Given the description of an element on the screen output the (x, y) to click on. 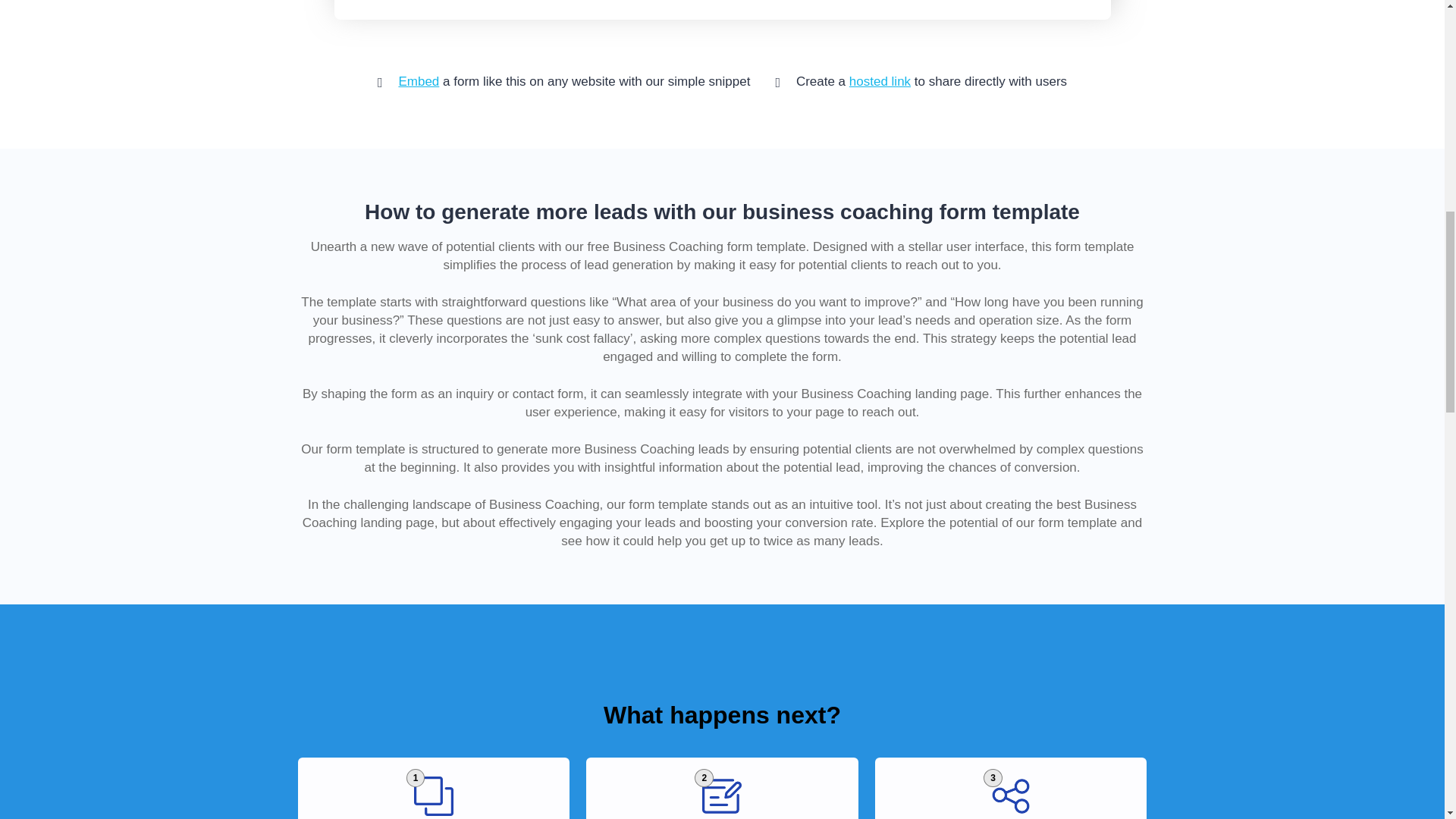
Embed (418, 81)
hosted link (879, 81)
